Given the description of an element on the screen output the (x, y) to click on. 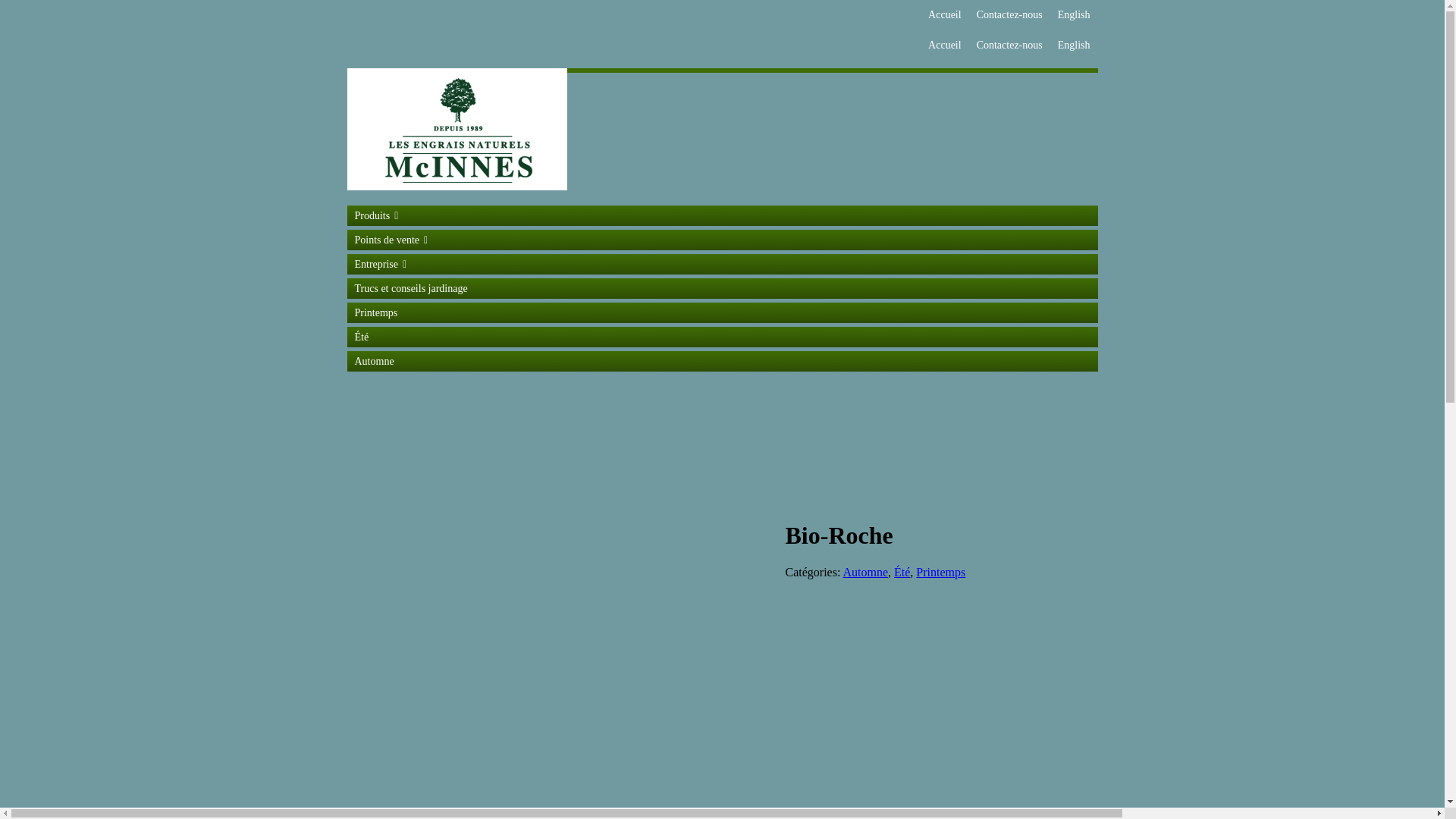
Printemps Element type: text (940, 571)
Produits Element type: text (722, 215)
Printemps Element type: text (722, 312)
Entreprise Element type: text (722, 264)
Points de vente Element type: text (722, 239)
English Element type: text (1074, 15)
Trucs et conseils jardinage Element type: text (722, 288)
Automne Element type: text (722, 361)
Accueil Element type: text (944, 45)
English Element type: text (1074, 45)
Automne Element type: text (865, 571)
Contactez-nous Element type: text (1009, 15)
Accueil Element type: text (944, 15)
Contactez-nous Element type: text (1009, 45)
logo_fr Element type: hover (457, 129)
